Given the description of an element on the screen output the (x, y) to click on. 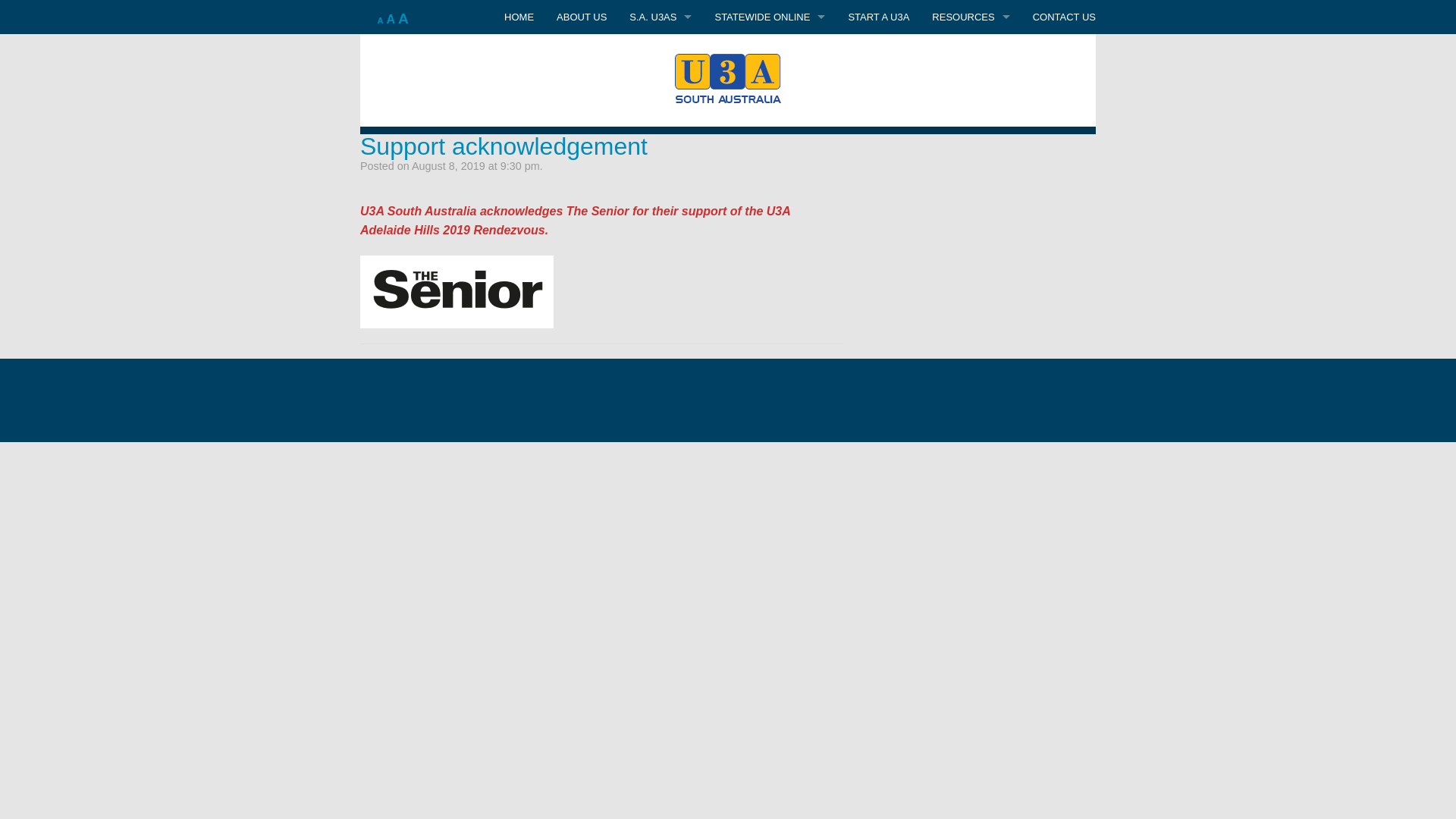
INSURANCE DOCUMENTS Element type: text (970, 119)
CALENDAR Element type: text (970, 255)
A Element type: text (403, 18)
GRANTS Element type: text (970, 85)
OVERVIEW Element type: text (769, 119)
S.A. U3AS Element type: text (660, 51)
FACT SHEETS Element type: text (970, 51)
FOR TUTORS Element type: text (769, 85)
ABOUT US Element type: text (581, 17)
START A U3A Element type: text (878, 17)
JOIN A U3A Element type: text (660, 85)
MEMBER INFORMATION Element type: text (970, 221)
A Element type: text (380, 20)
HOME Element type: text (518, 17)
COURSES ONLINE Element type: text (769, 51)
CONTACT US Element type: text (1064, 17)
NATIONAL U3AS & SENIORS Element type: text (970, 153)
A Element type: text (390, 18)
Support acknowledgement Element type: text (503, 146)
RESOURCES Element type: text (970, 17)
S.A. U3AS Element type: text (660, 17)
STATEWIDE ONLINE Element type: text (769, 17)
NATIONAL BULLETIN Element type: text (970, 187)
